Given the description of an element on the screen output the (x, y) to click on. 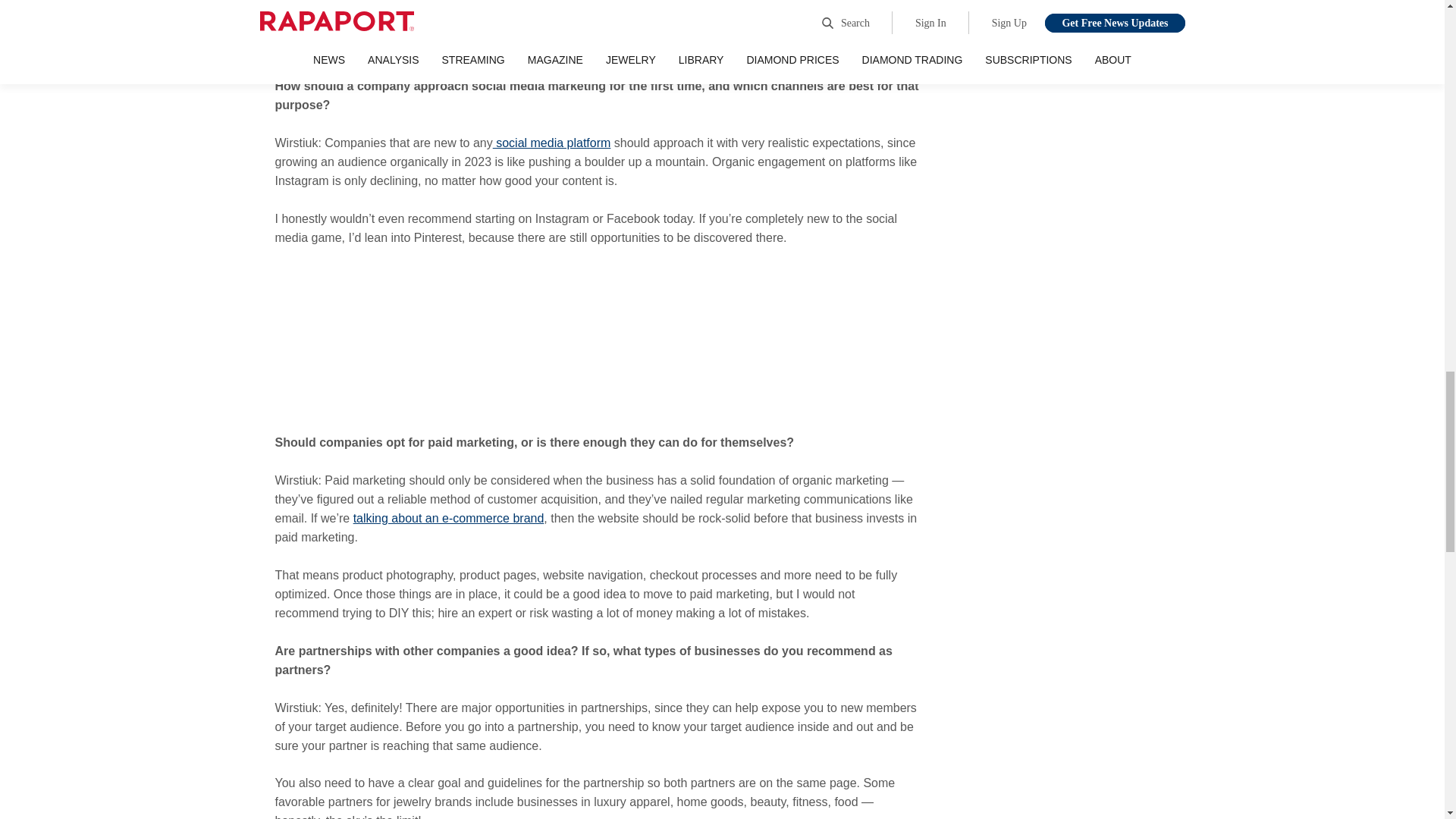
3rd party ad content (1070, 213)
